Given the description of an element on the screen output the (x, y) to click on. 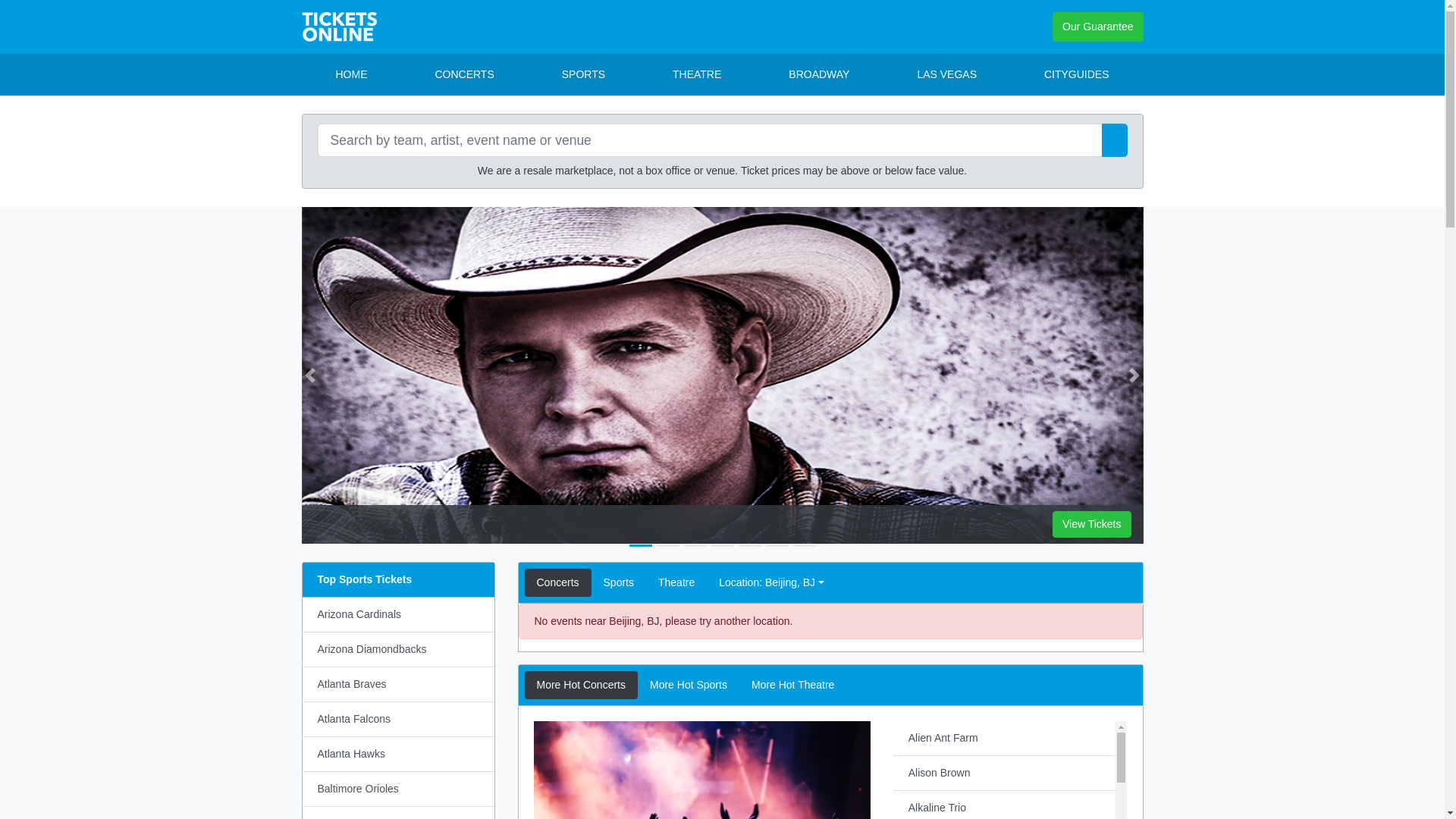
LAS VEGAS Element type: text (946, 74)
Concerts Element type: text (557, 582)
Our Guarantee Element type: text (1097, 26)
Theatre Element type: text (676, 582)
Atlanta Falcons Element type: text (397, 719)
Location: Beijing, BJ Element type: text (770, 582)
Alison Brown Element type: text (1004, 773)
HOME Element type: text (350, 74)
CITYGUIDES Element type: text (1076, 74)
Next Element type: text (1134, 375)
Sports Element type: text (618, 582)
SPORTS Element type: text (583, 74)
More Hot Sports Element type: text (688, 685)
THEATRE Element type: text (696, 74)
Atlanta Hawks Element type: text (397, 754)
Alien Ant Farm Element type: text (1004, 738)
BROADWAY Element type: text (818, 74)
View Tickets Element type: text (1091, 524)
Previous Element type: text (309, 375)
Arizona Cardinals Element type: text (397, 614)
More Hot Theatre Element type: text (792, 685)
More Hot Concerts Element type: text (580, 685)
Baltimore Orioles Element type: text (397, 788)
Atlanta Braves Element type: text (397, 684)
CONCERTS Element type: text (464, 74)
Arizona Diamondbacks Element type: text (397, 649)
